Given the description of an element on the screen output the (x, y) to click on. 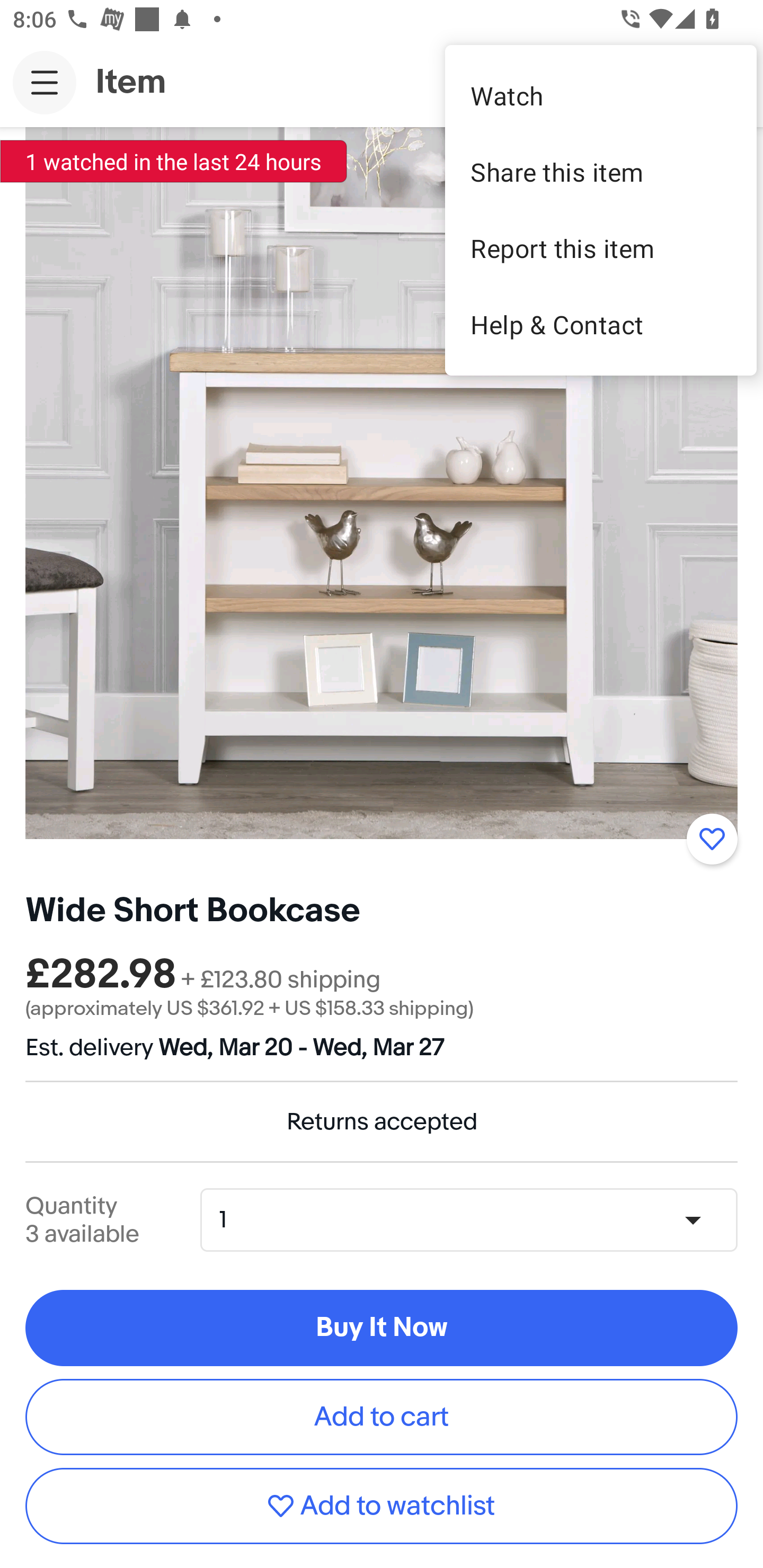
Watch (600, 95)
Share this item (600, 171)
Report this item (600, 248)
Help & Contact (600, 324)
